Given the description of an element on the screen output the (x, y) to click on. 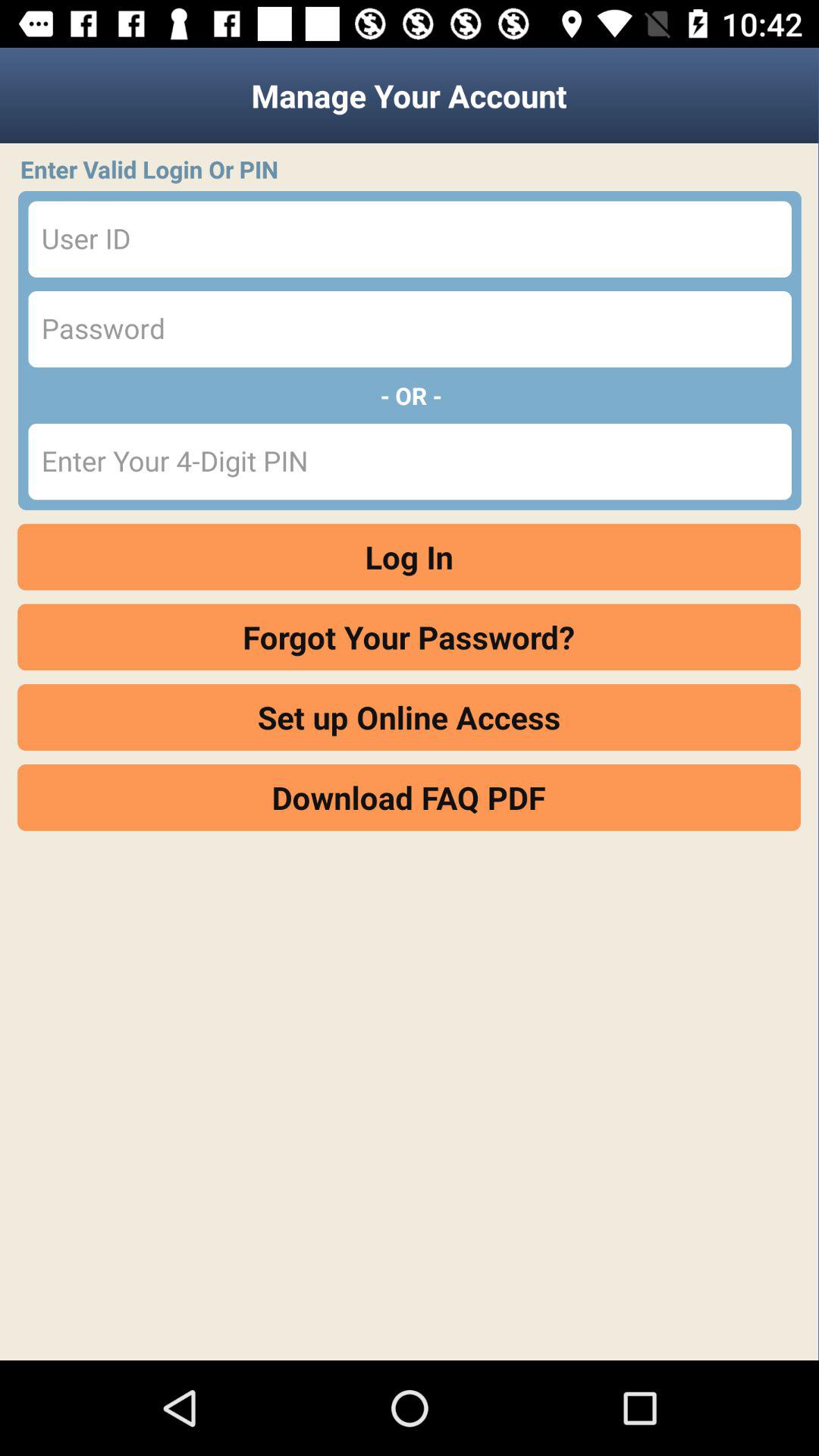
launch enter valid login icon (414, 169)
